Given the description of an element on the screen output the (x, y) to click on. 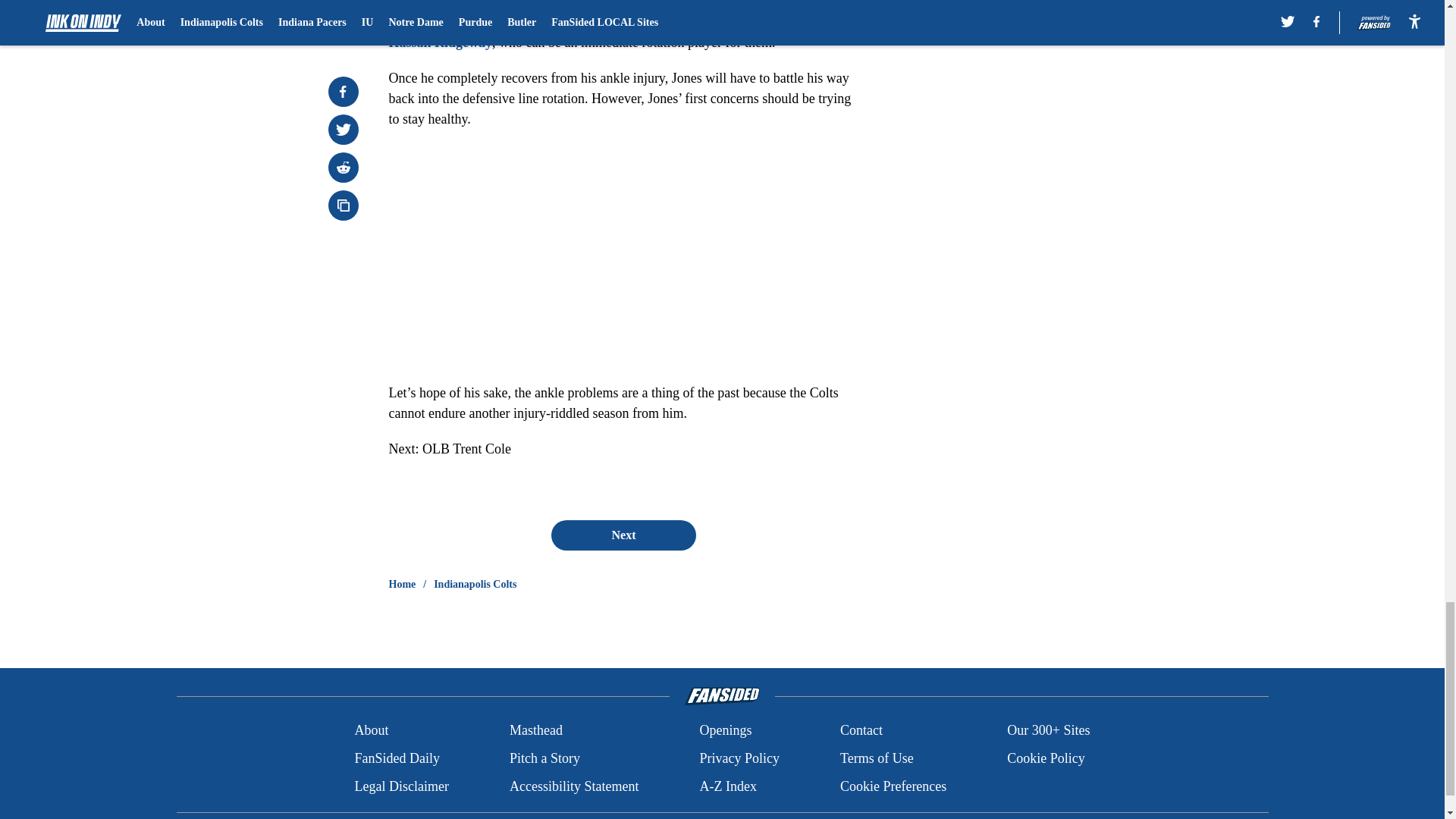
Zach Kerr (416, 21)
About (370, 730)
Indianapolis Colts (474, 584)
T.Y. McGill (776, 4)
Hassan Ridgeway (440, 42)
Masthead (535, 730)
Next (622, 535)
Home (401, 584)
